Given the description of an element on the screen output the (x, y) to click on. 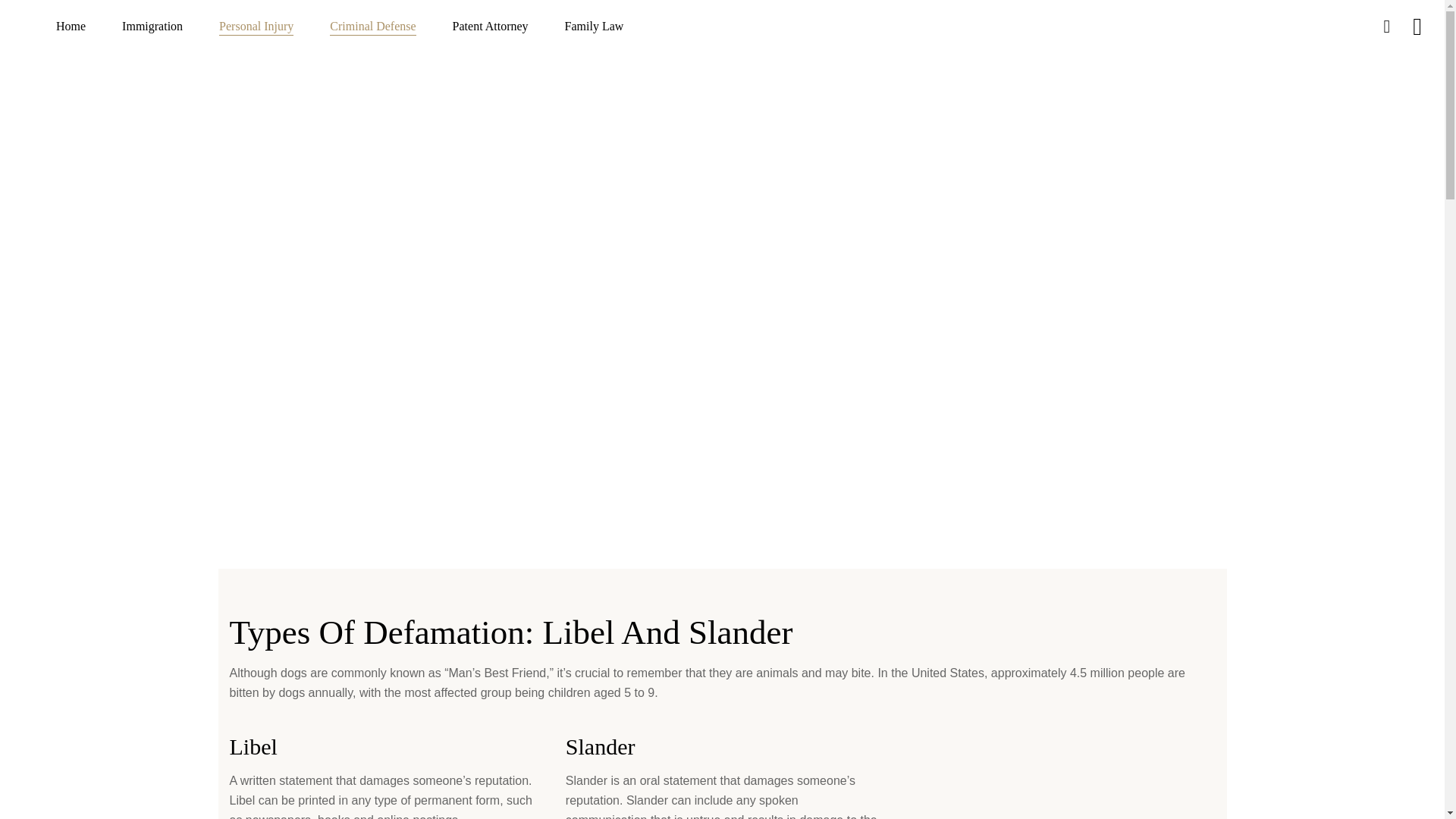
Home (70, 26)
Criminal Defense (372, 26)
Personal Injury (255, 26)
Immigration (151, 26)
